Given the description of an element on the screen output the (x, y) to click on. 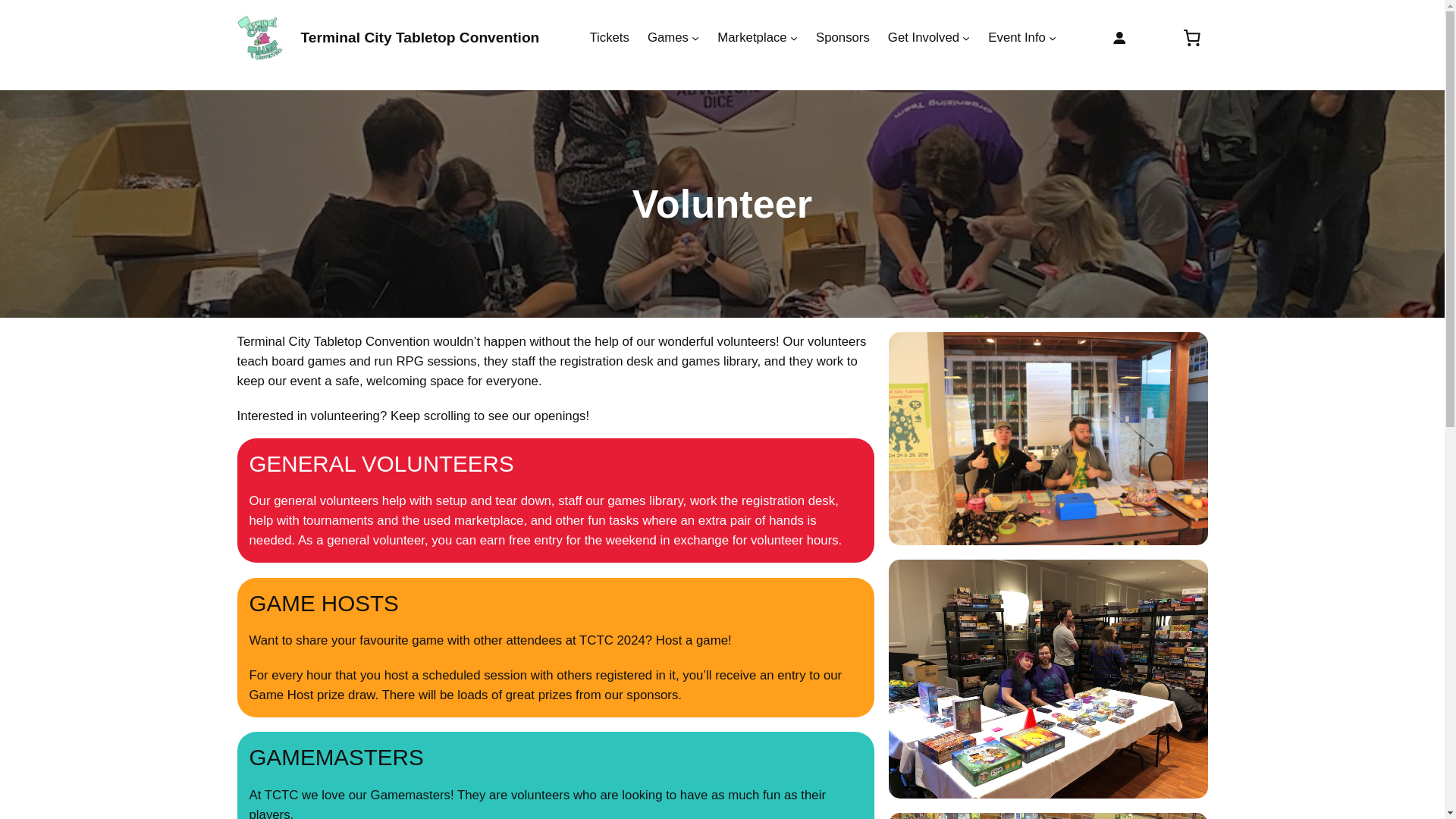
Sponsors (842, 37)
Marketplace (751, 37)
Terminal City Tabletop Convention (418, 37)
Get Involved (923, 37)
Event Info (1016, 37)
Games (667, 37)
Tickets (608, 37)
Games (667, 37)
